Given the description of an element on the screen output the (x, y) to click on. 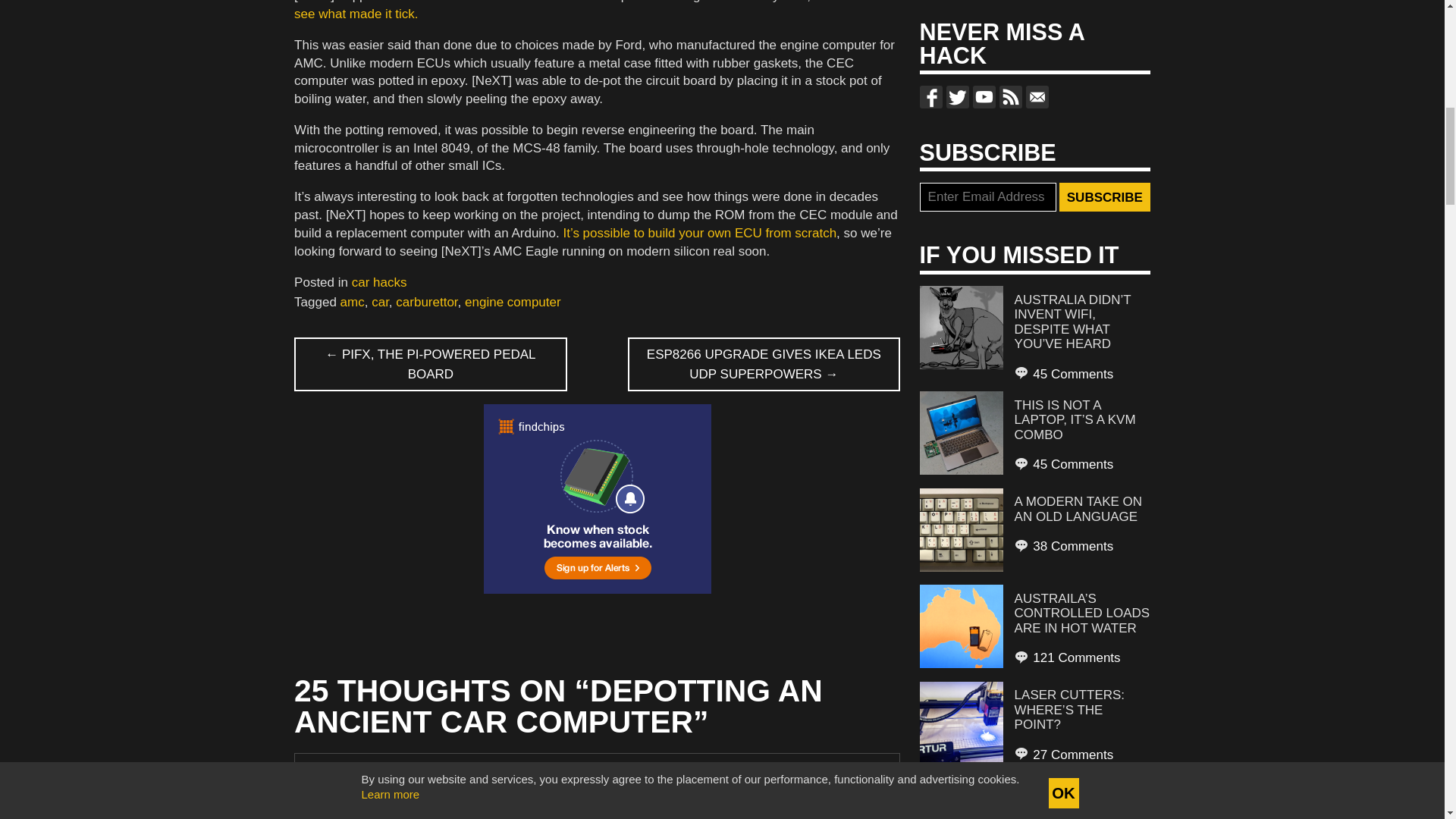
car hacks (379, 282)
amc (352, 301)
Subscribe (1104, 196)
car (379, 301)
and decided to see what made it tick. (596, 10)
engine computer (512, 301)
May 27, 2019 at 1:54 pm (366, 794)
carburettor (426, 301)
